Given the description of an element on the screen output the (x, y) to click on. 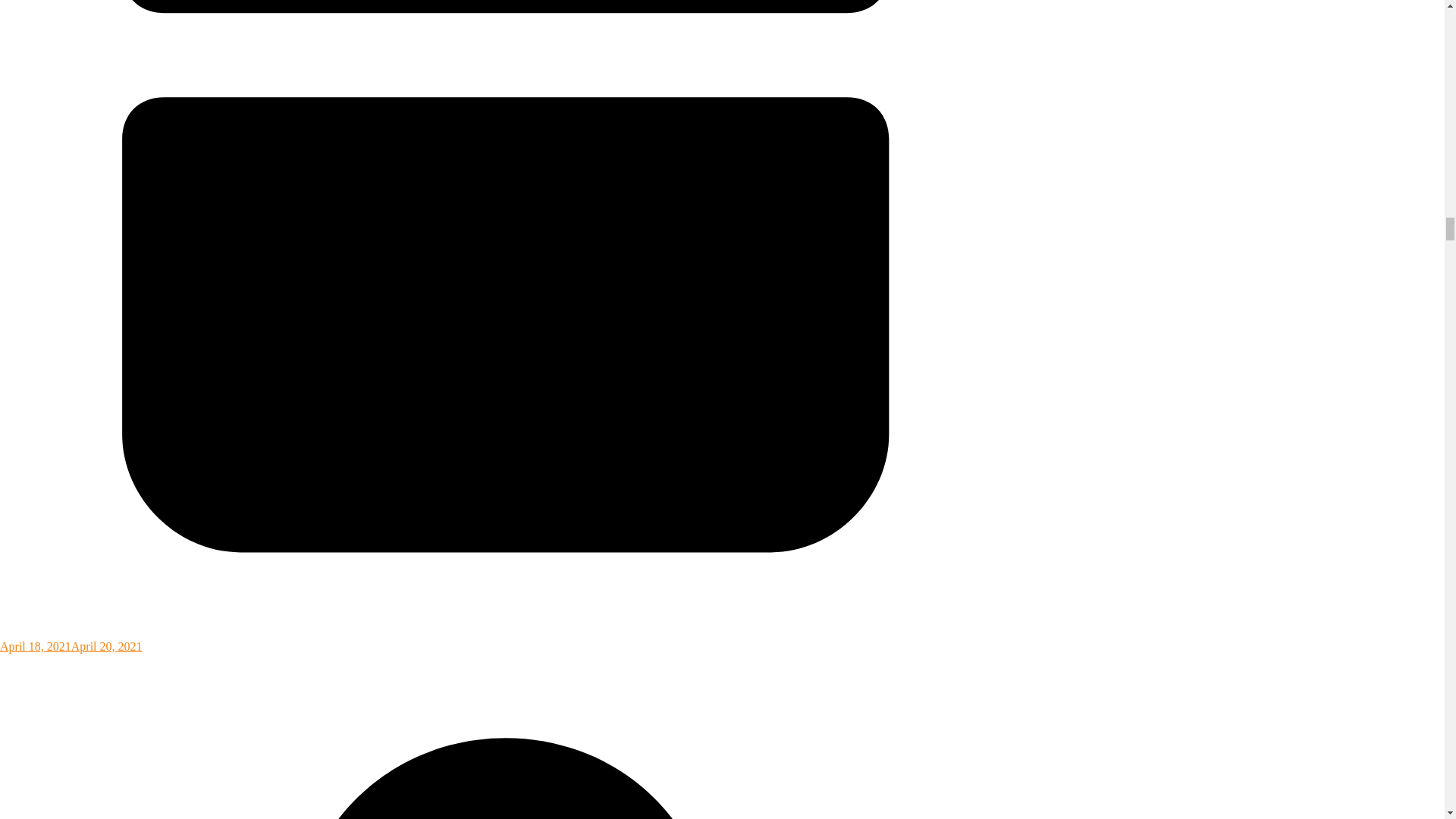
12:28 pm (505, 639)
April 18, 2021April 20, 2021 (505, 639)
